Given the description of an element on the screen output the (x, y) to click on. 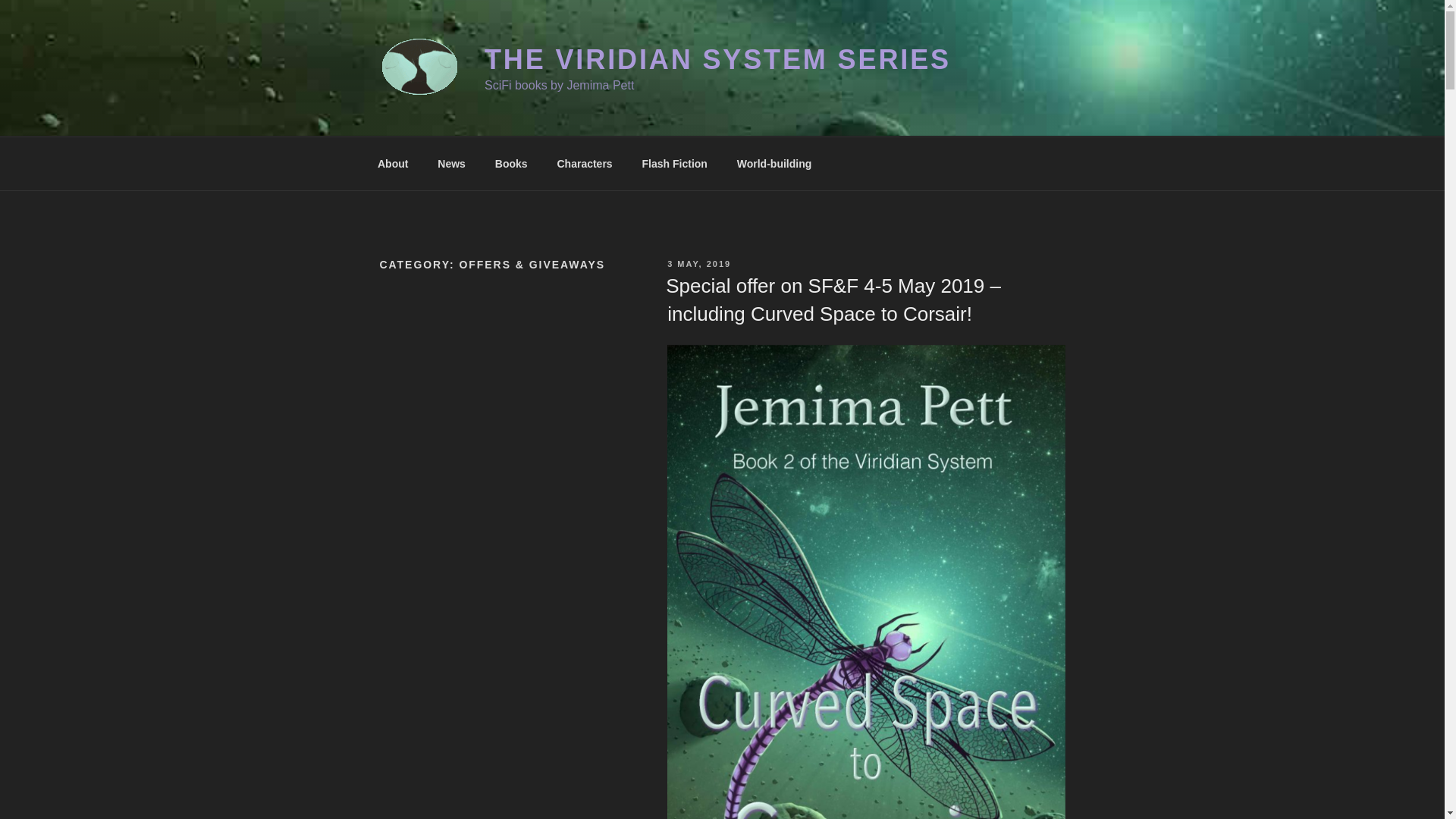
Characters (584, 163)
About (392, 163)
3 MAY, 2019 (698, 263)
Flash Fiction (674, 163)
THE VIRIDIAN SYSTEM SERIES (717, 59)
Books (510, 163)
News (452, 163)
World-building (774, 163)
